Given the description of an element on the screen output the (x, y) to click on. 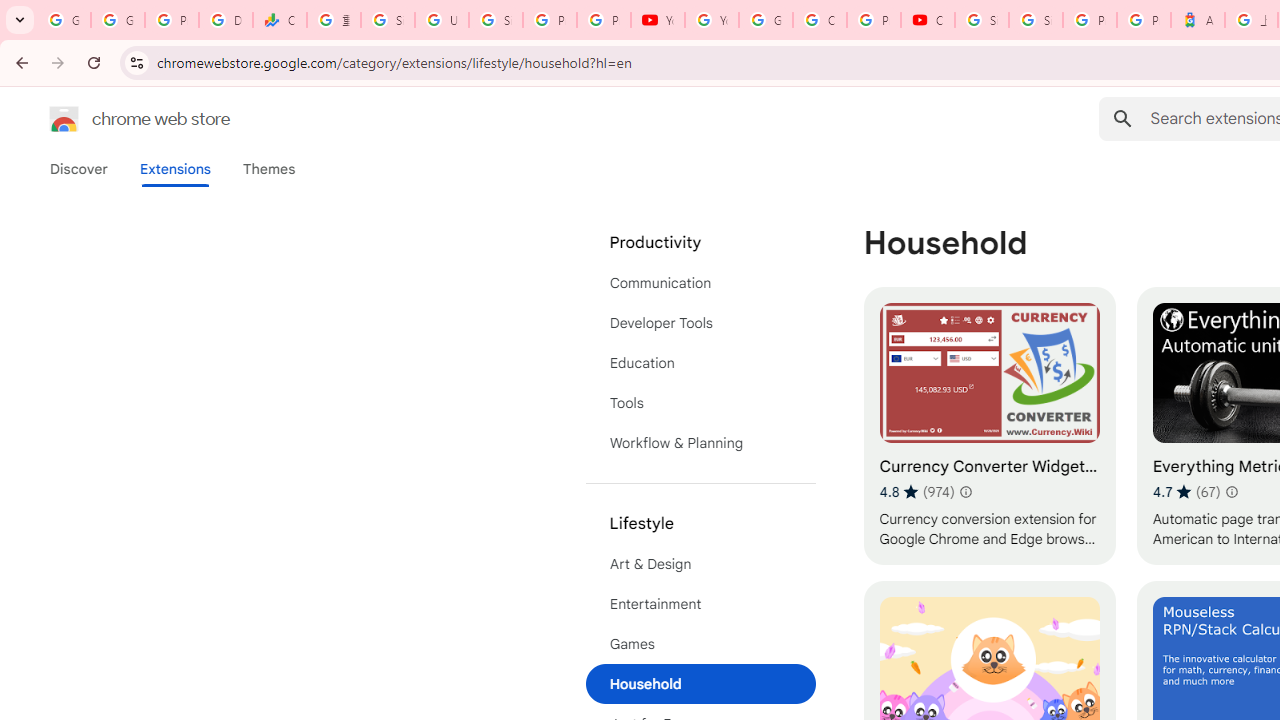
YouTube (657, 20)
